Given the description of an element on the screen output the (x, y) to click on. 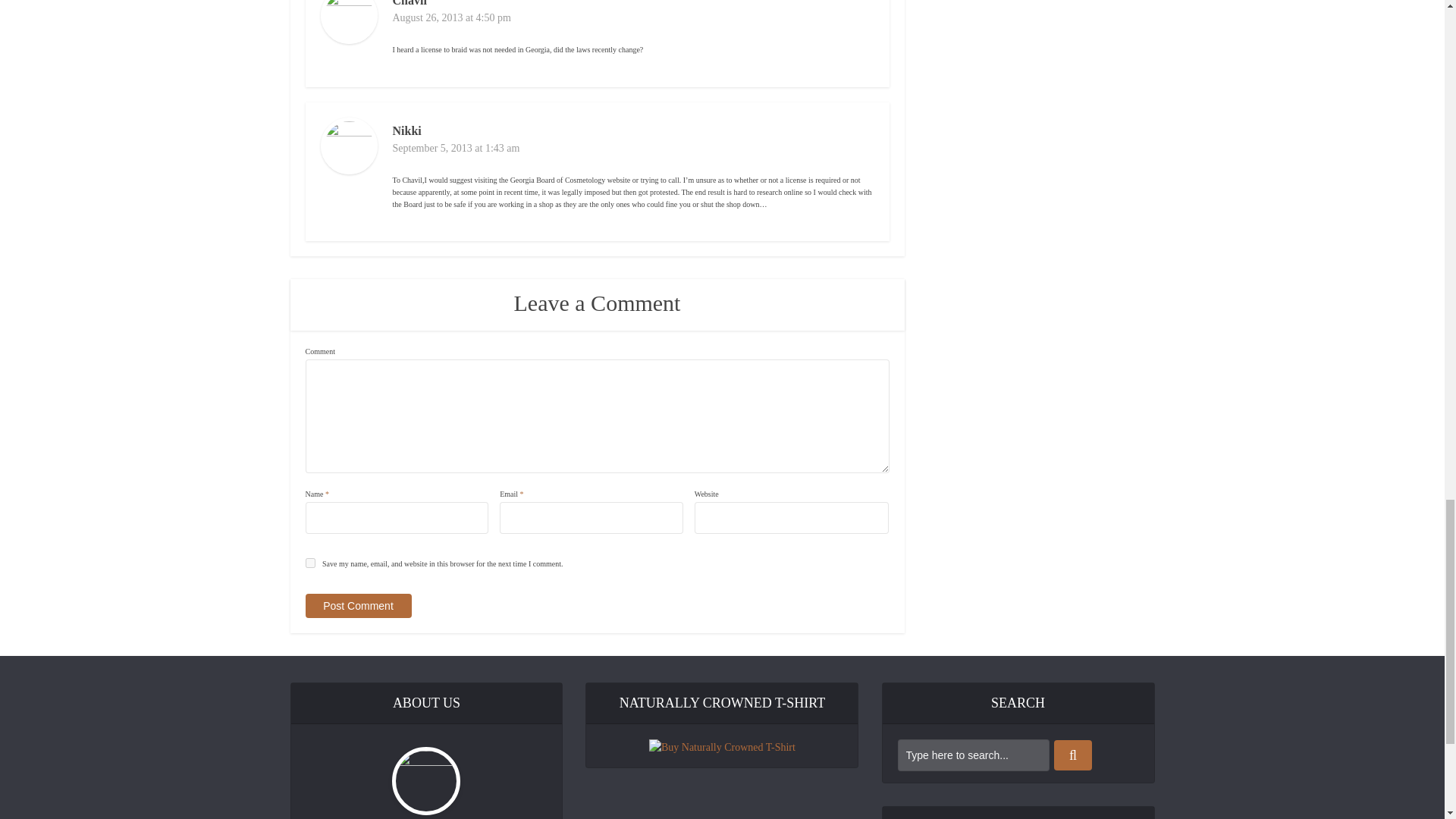
yes (309, 562)
Type here to search... (973, 755)
Type here to search... (973, 755)
Post Comment (357, 605)
